Given the description of an element on the screen output the (x, y) to click on. 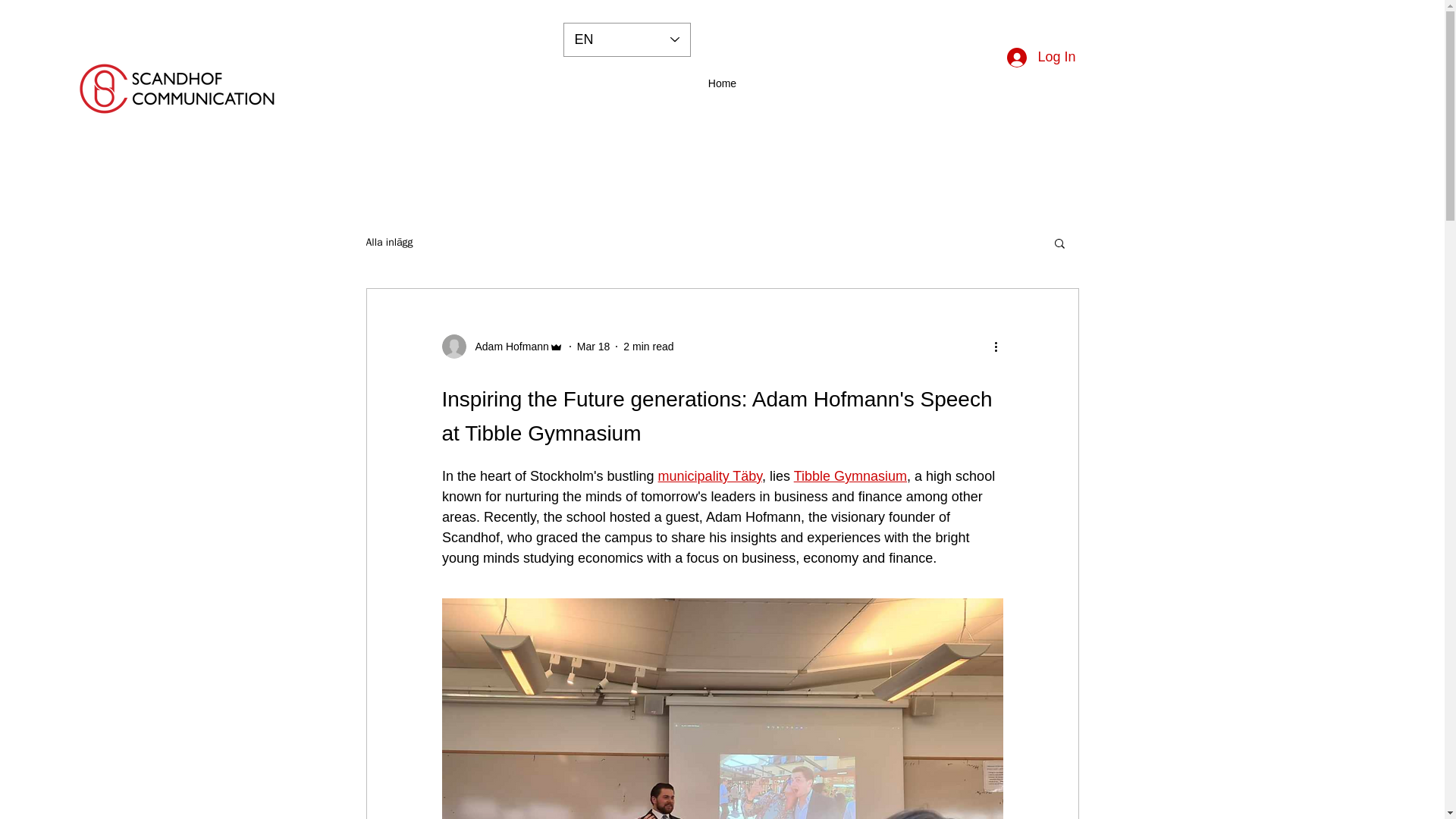
Home (721, 83)
2 min read (647, 345)
Adam Hofmann (501, 346)
Log In (1040, 57)
Tibble Gymnasium (849, 476)
Mar 18 (593, 345)
Adam Hofmann (506, 345)
